Given the description of an element on the screen output the (x, y) to click on. 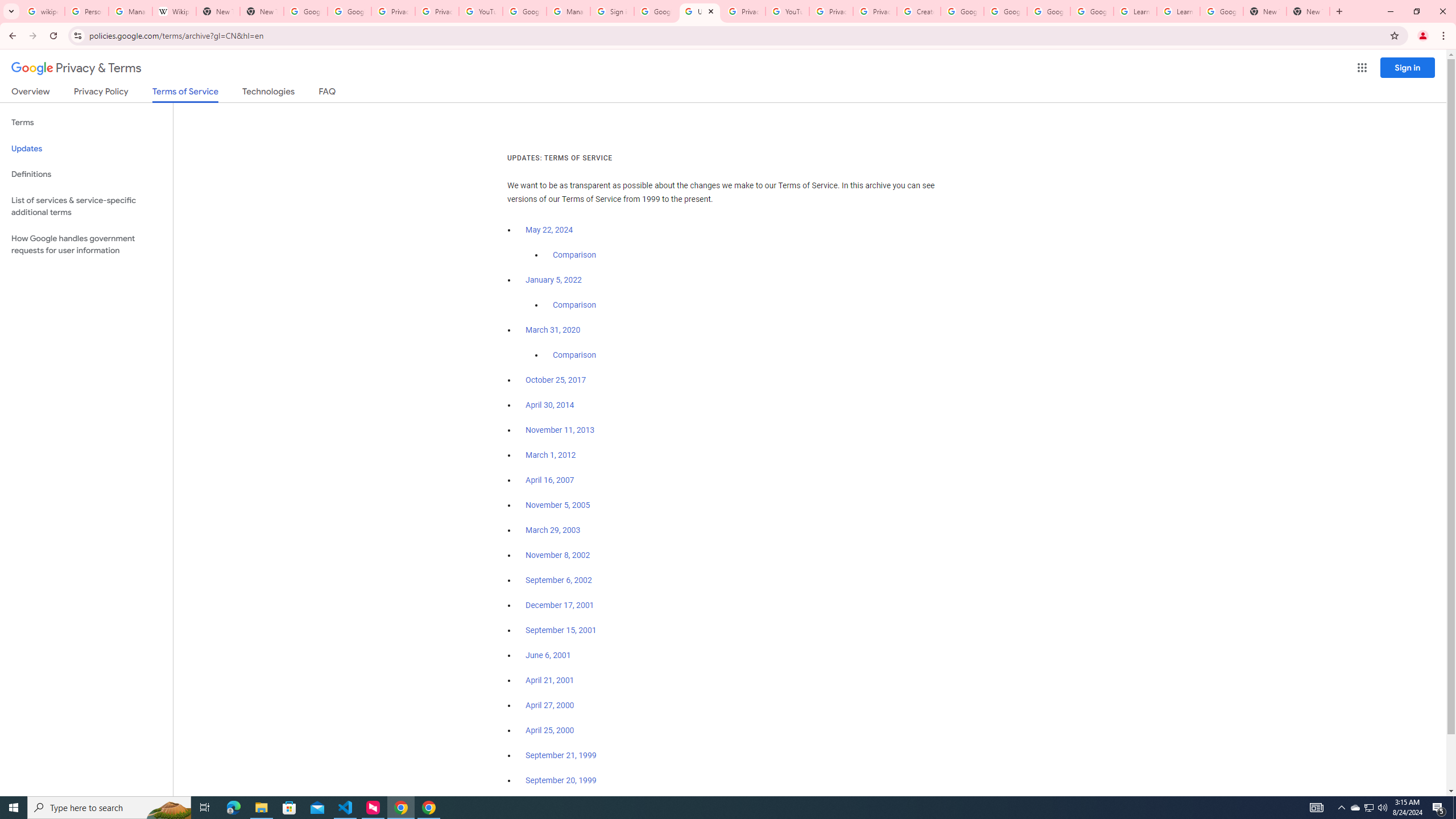
March 29, 2003 (552, 530)
FAQ (327, 93)
New Tab (261, 11)
Google Drive: Sign-in (349, 11)
Terms of Service (184, 94)
YouTube (786, 11)
March 31, 2020 (552, 330)
September 15, 2001 (560, 629)
April 21, 2001 (550, 679)
